Given the description of an element on the screen output the (x, y) to click on. 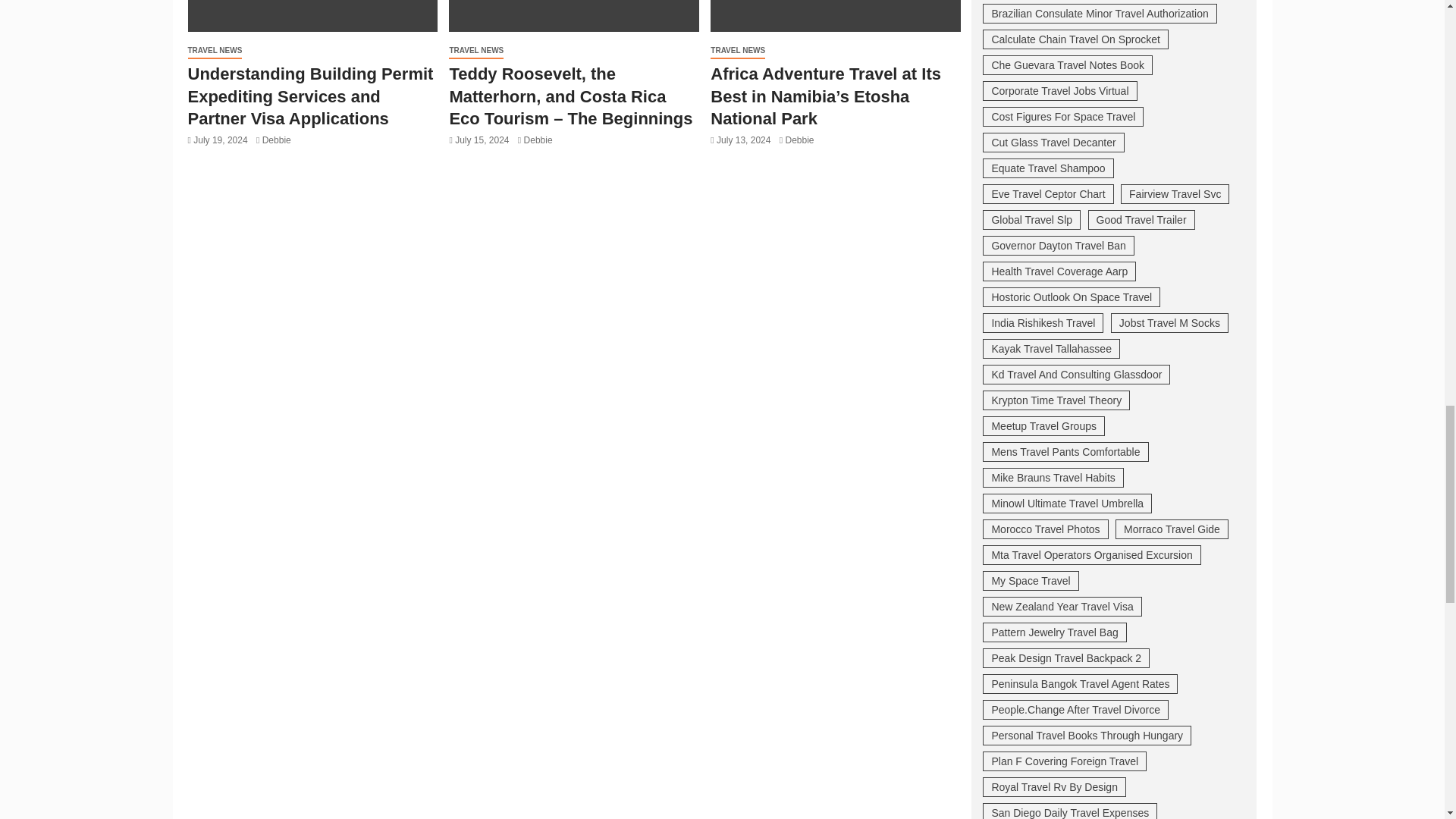
Debbie (276, 140)
TRAVEL NEWS (215, 50)
TRAVEL NEWS (475, 50)
